Given the description of an element on the screen output the (x, y) to click on. 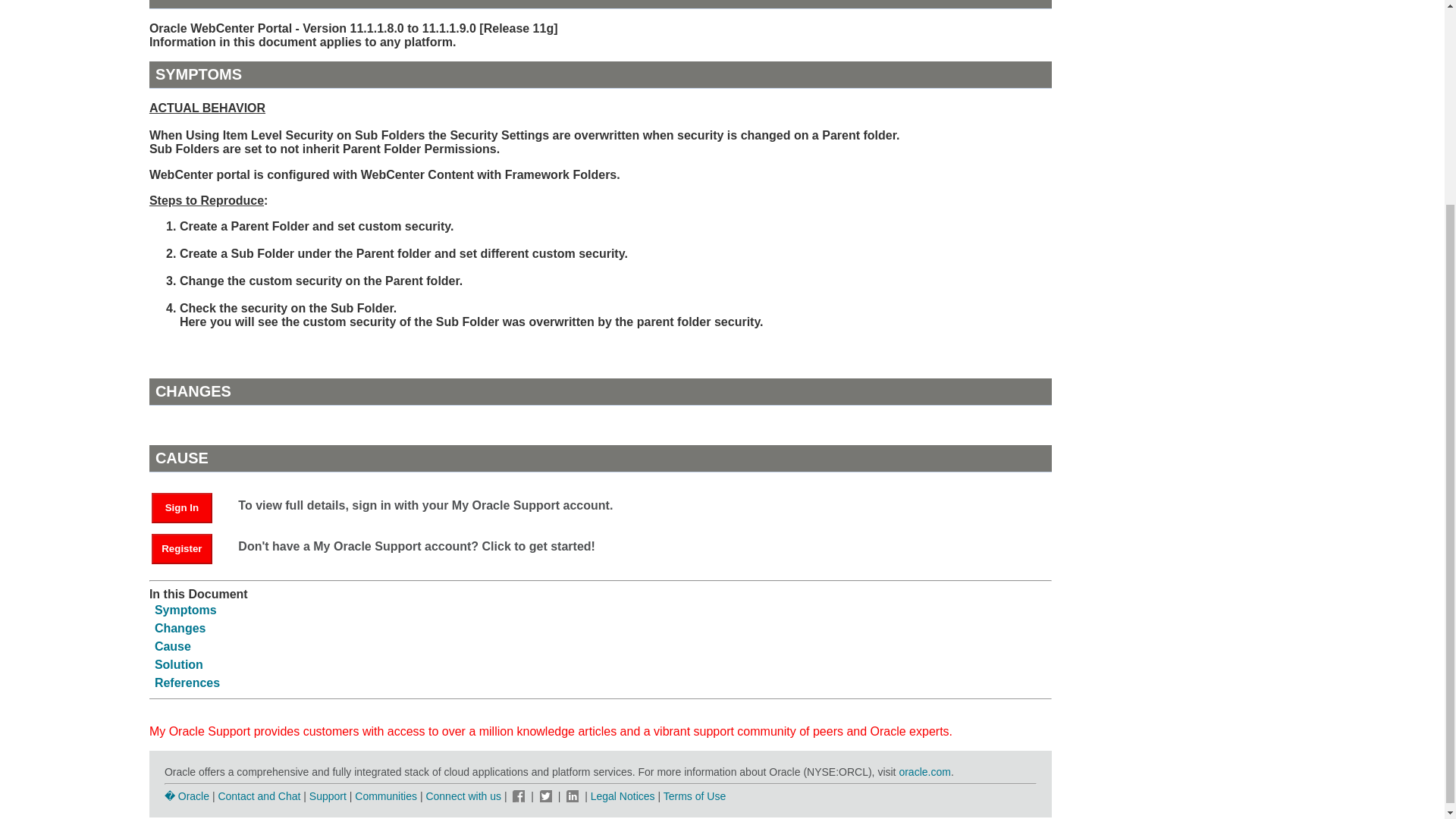
Register (181, 548)
Solution (178, 664)
Terms of Use (694, 796)
Contact and Chat (257, 796)
Support (327, 796)
oracle.com (924, 771)
Sign In (189, 506)
Legal Notices (623, 796)
Cause (172, 645)
Sign In (181, 508)
References (186, 682)
Communities (385, 796)
Connect with us (464, 796)
Register (189, 547)
oracle.com (924, 771)
